Given the description of an element on the screen output the (x, y) to click on. 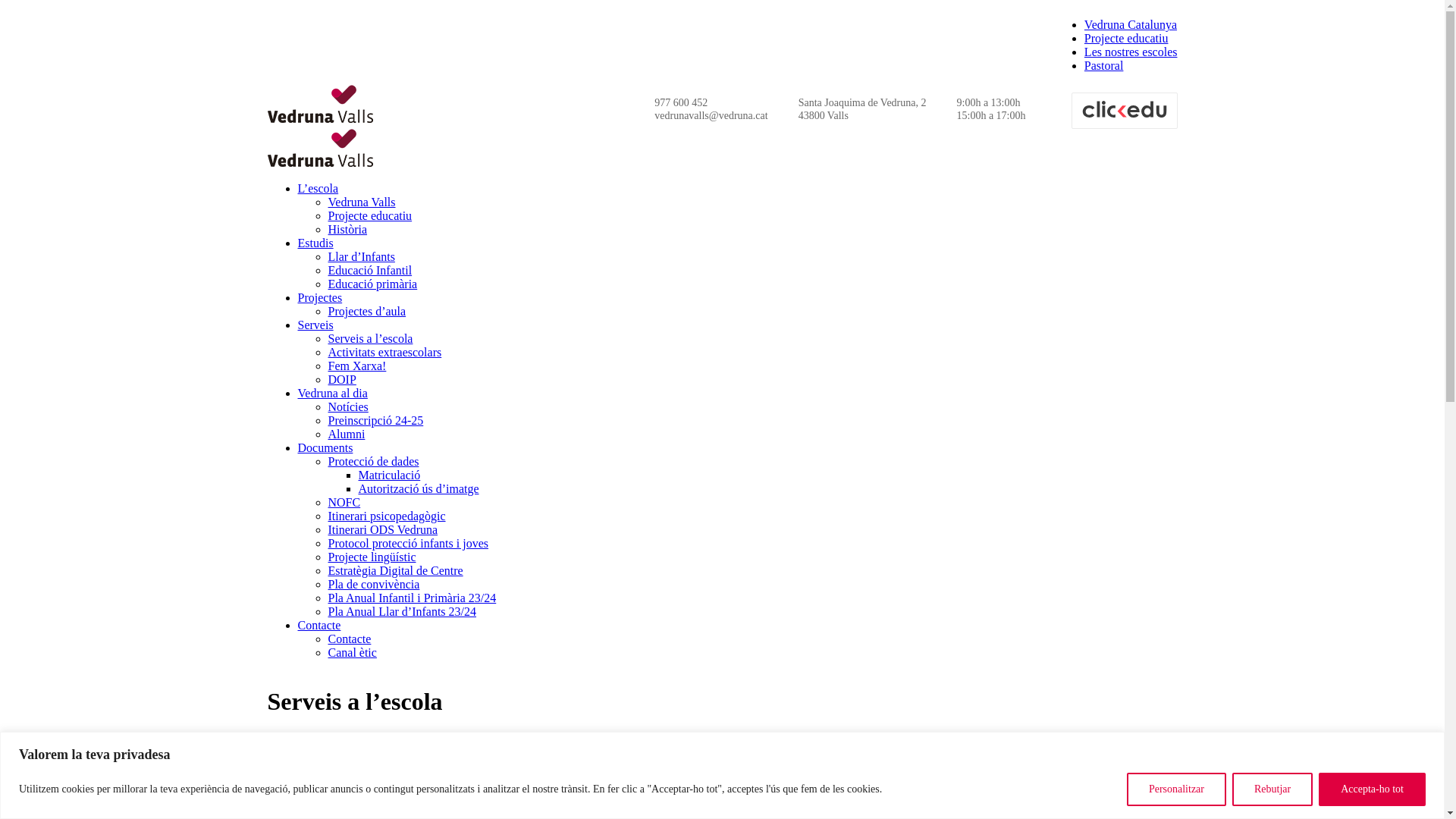
Personalitzar Element type: text (1176, 788)
Serveis Element type: text (314, 324)
DOIP Element type: text (341, 379)
NOFC Element type: text (343, 501)
Estudis Element type: text (314, 242)
Rebutjar Element type: text (1272, 788)
Projectes Element type: text (319, 297)
Vedruna al dia Element type: text (332, 392)
Documents Element type: text (324, 447)
Activitats extraescolars Element type: text (384, 351)
Alumni Element type: text (345, 433)
Contacte Element type: text (348, 638)
Vedruna Catalunya Element type: text (1130, 24)
Vedruna Valls Element type: text (361, 201)
Fem Xarxa! Element type: text (356, 365)
Contacte Element type: text (318, 624)
Pastoral Element type: text (1103, 65)
Accepta-ho tot Element type: text (1371, 788)
Itinerari ODS Vedruna Element type: text (382, 529)
Projecte educatiu Element type: text (369, 215)
Les nostres escoles Element type: text (1130, 51)
Projecte educatiu Element type: text (1126, 37)
